Given the description of an element on the screen output the (x, y) to click on. 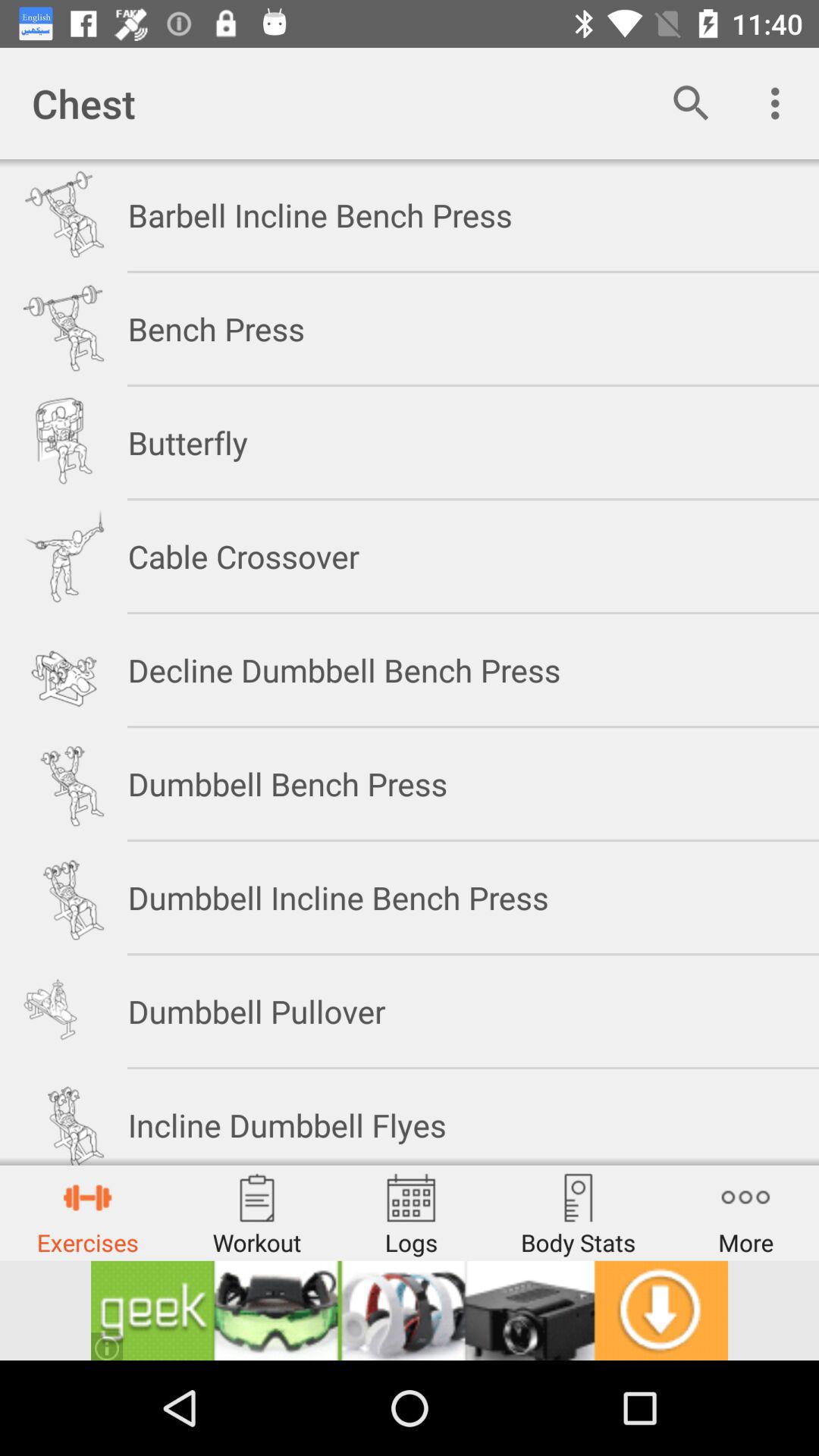
advertisement display (409, 1310)
